Given the description of an element on the screen output the (x, y) to click on. 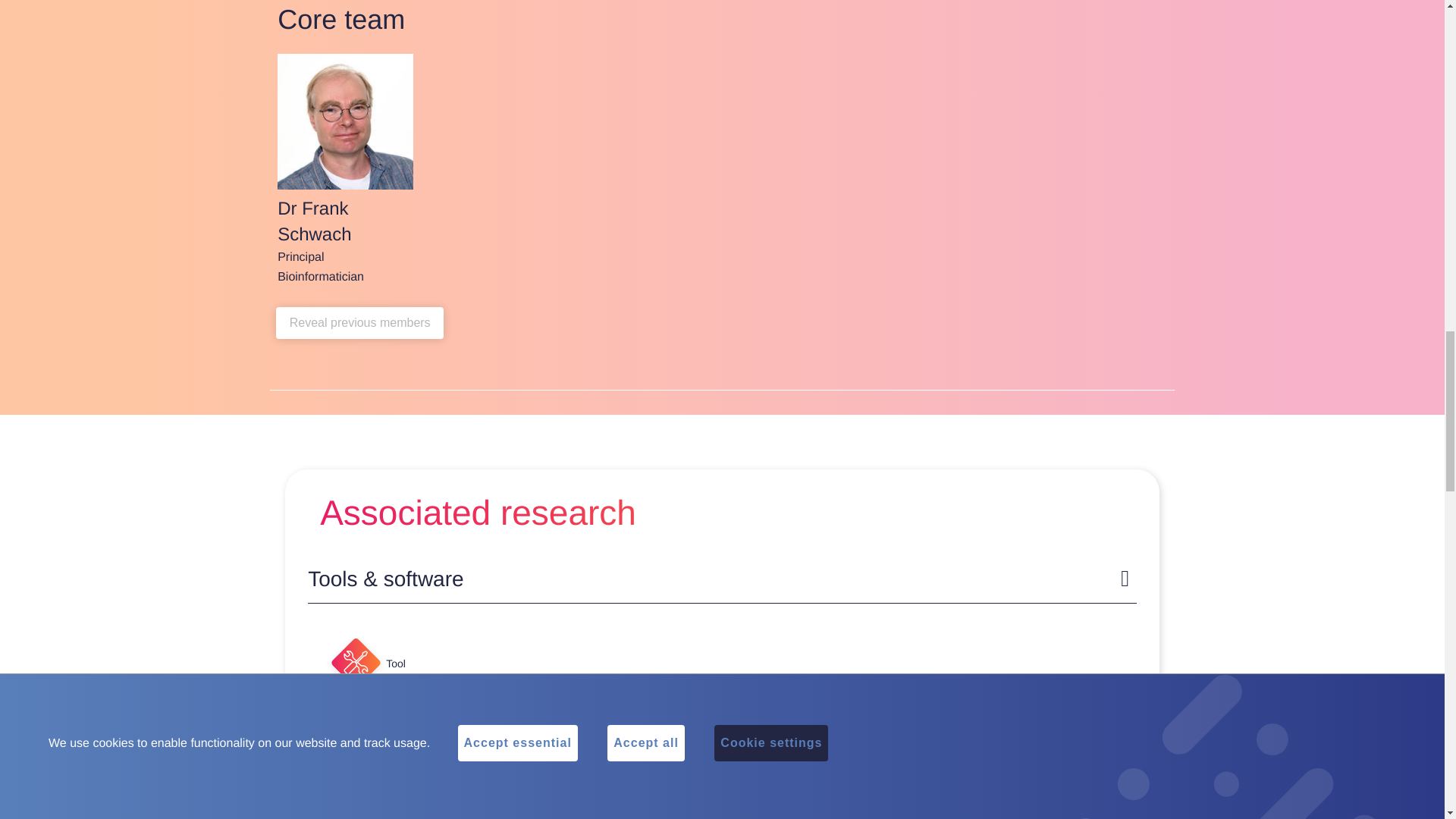
Dr Frank Schwach (345, 121)
